Given the description of an element on the screen output the (x, y) to click on. 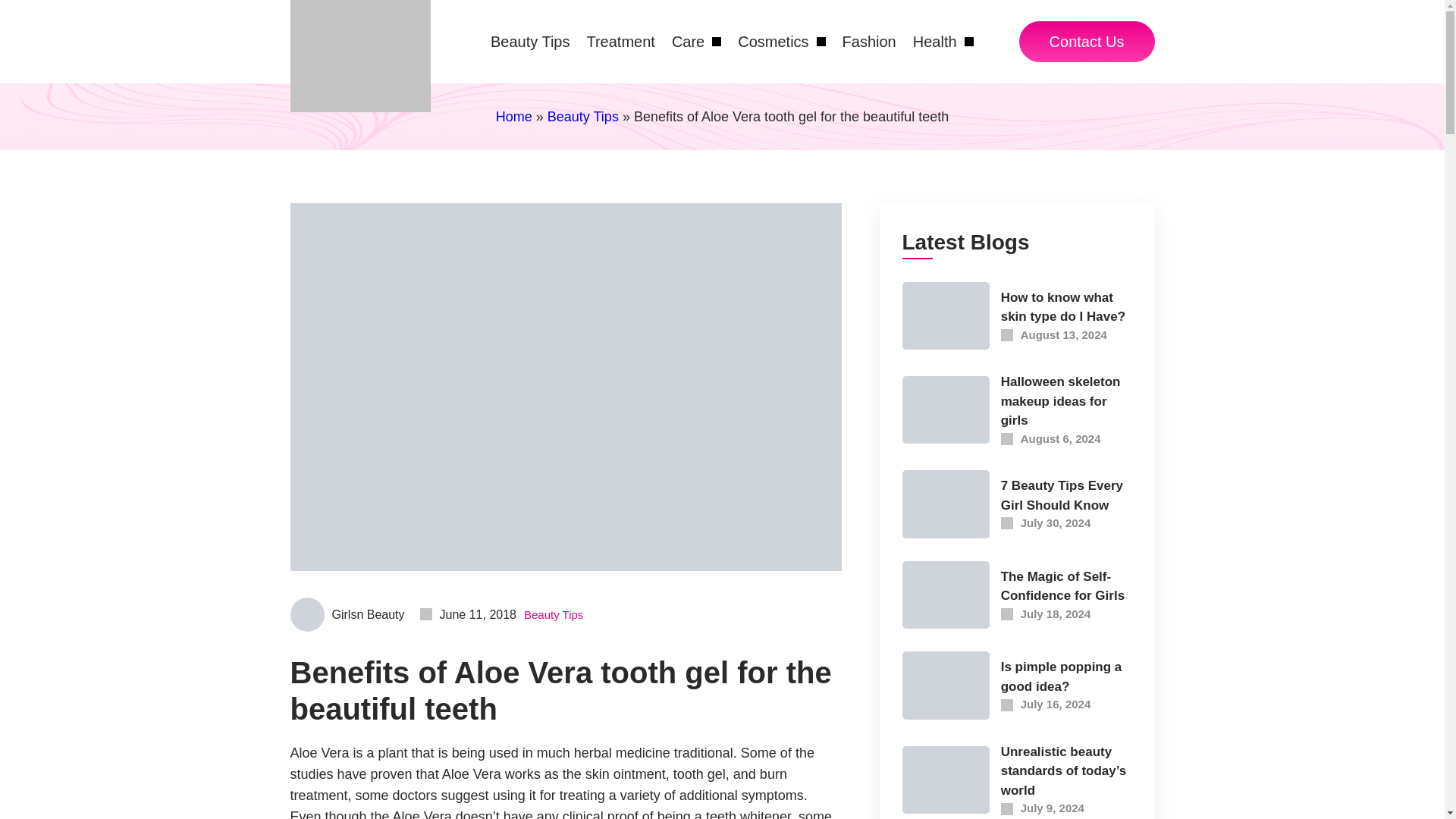
Beauty Tips (530, 41)
Treatment (620, 41)
Beauty Tips (530, 41)
Fashion (869, 41)
Health (943, 41)
Care (696, 41)
Cosmetics (781, 41)
Care (696, 41)
Contact Us (1086, 41)
Cosmetics (781, 41)
